Given the description of an element on the screen output the (x, y) to click on. 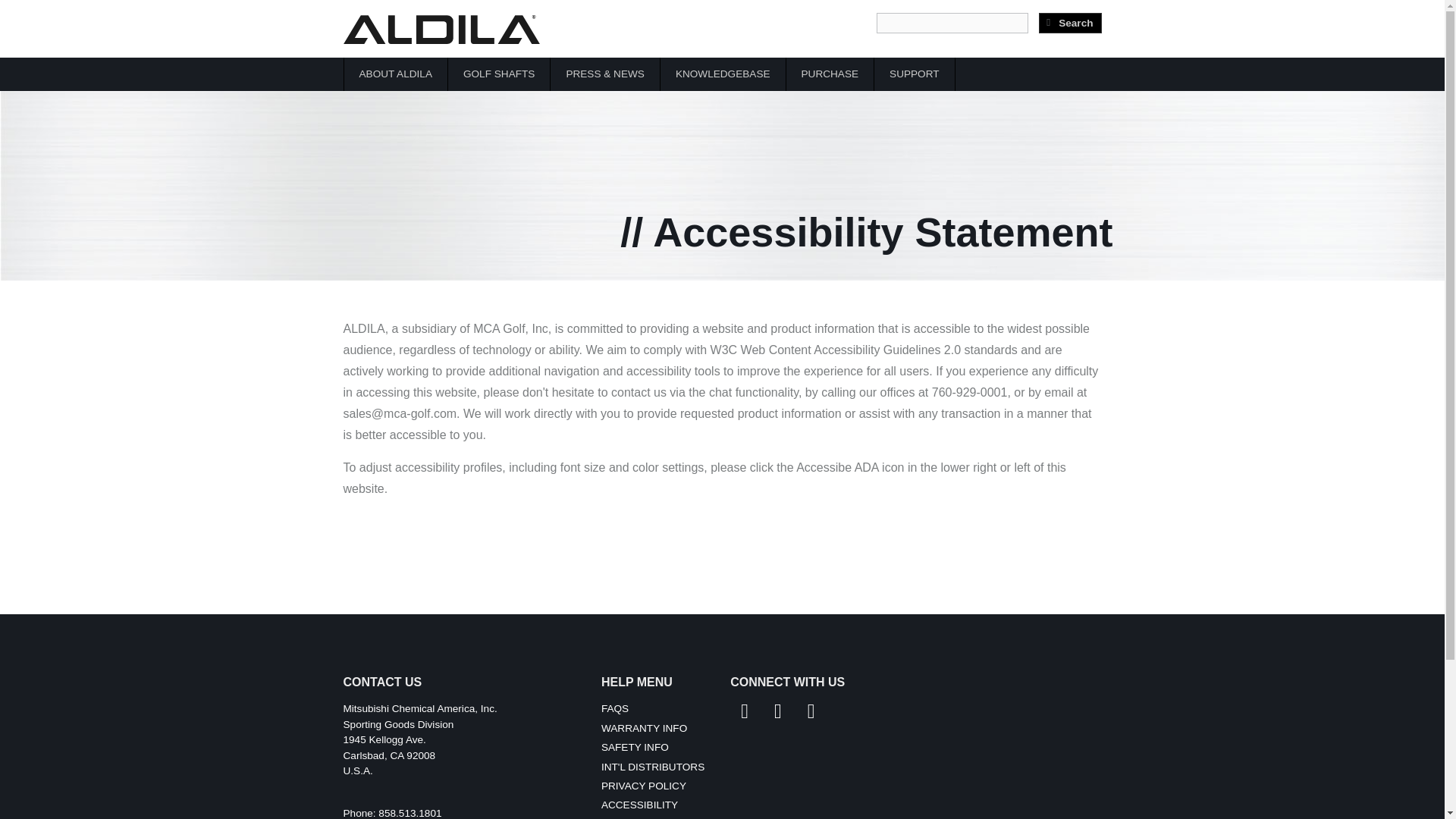
ABOUT ALDILA (388, 754)
SUPPORT (394, 73)
ALDILA (914, 73)
Skip to main content (547, 29)
Search (723, 73)
FAQS (1069, 23)
Search (614, 708)
GOLF SHAFTS (1069, 23)
